Given the description of an element on the screen output the (x, y) to click on. 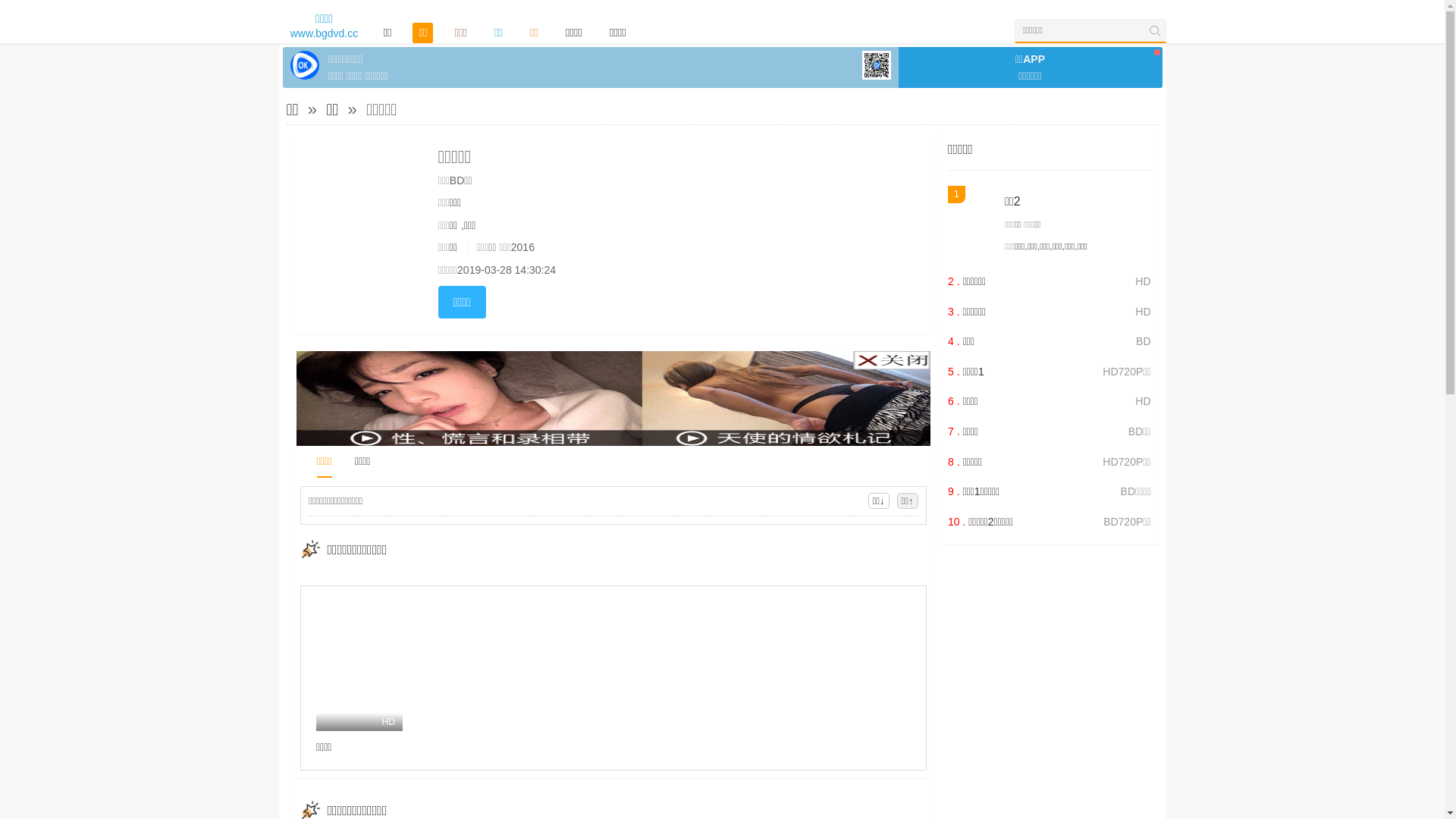
HD Element type: text (359, 666)
1 Element type: text (972, 222)
